Given the description of an element on the screen output the (x, y) to click on. 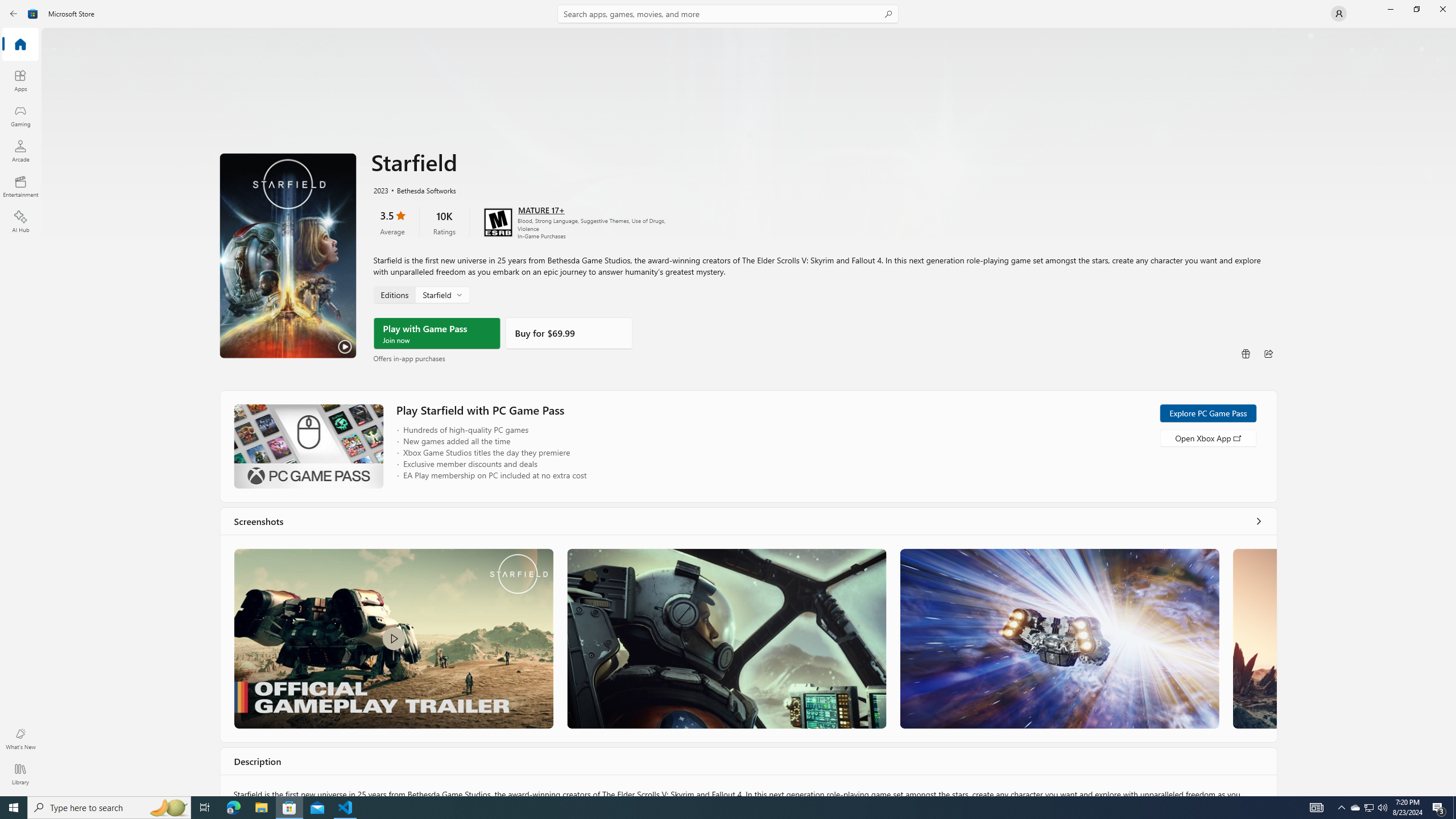
Play with Game Pass (436, 332)
Gameplay Trailer (393, 638)
Screenshot 3 (1058, 638)
